Given the description of an element on the screen output the (x, y) to click on. 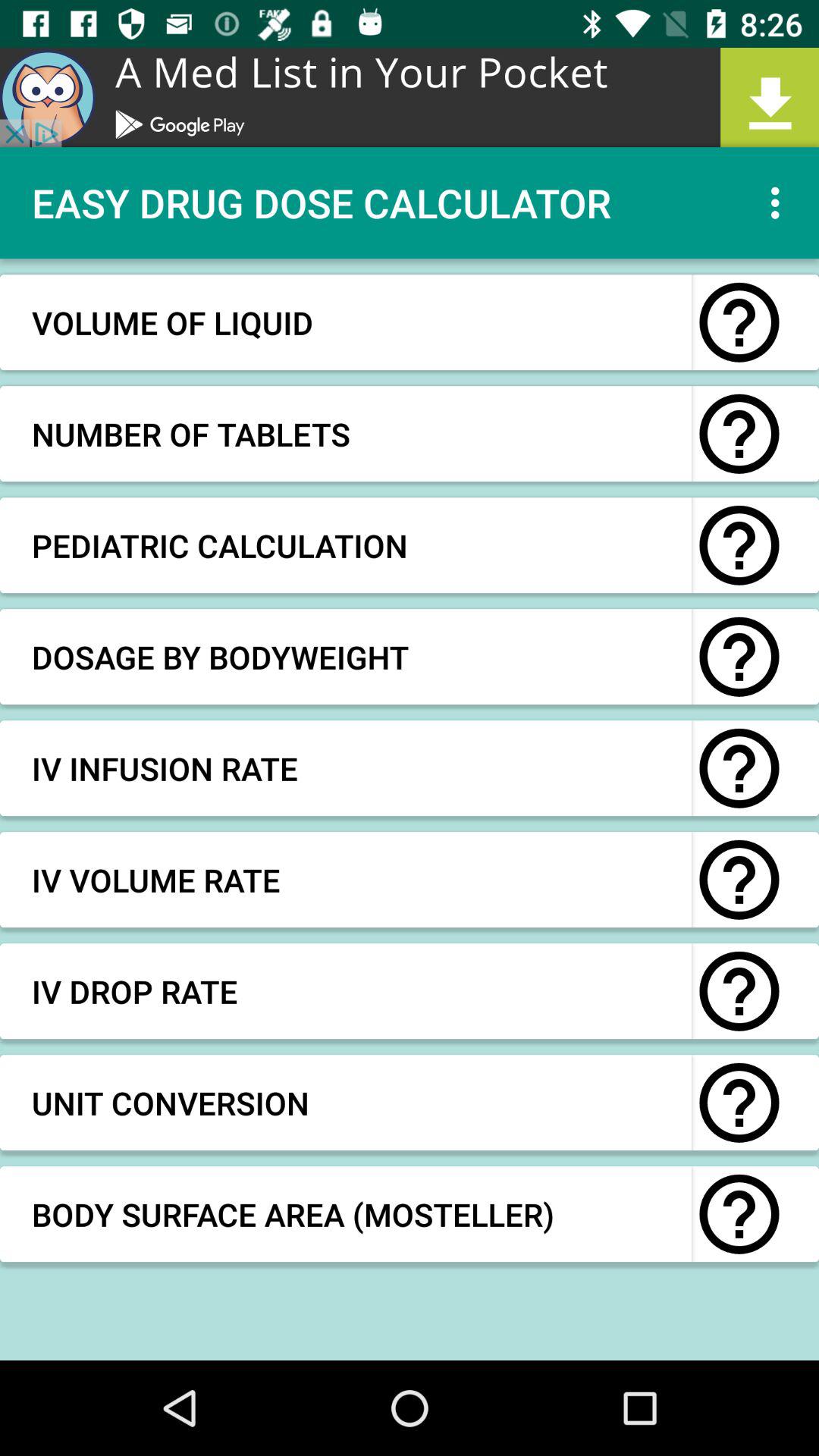
help option (739, 879)
